Given the description of an element on the screen output the (x, y) to click on. 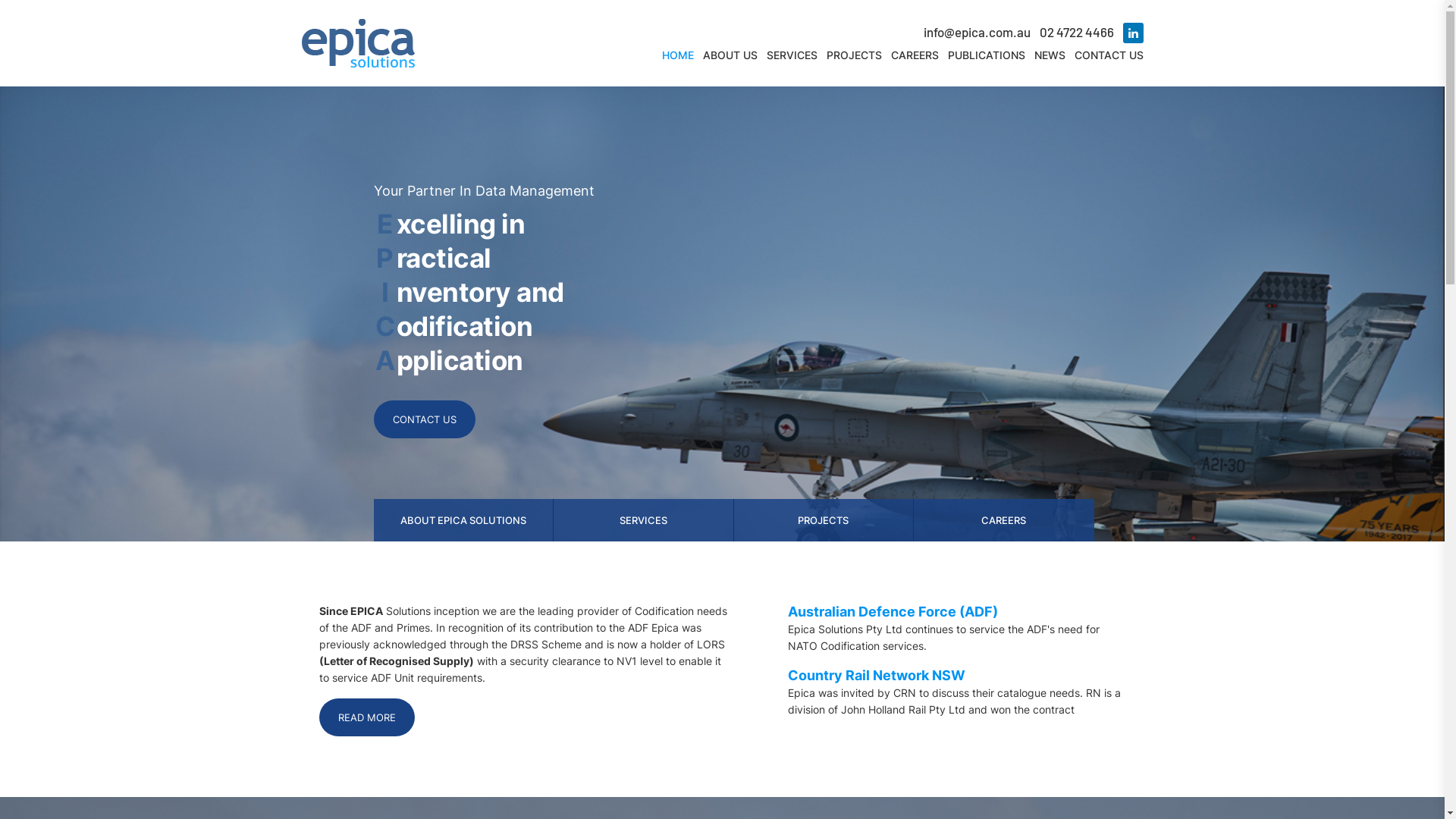
02 4722 4466 Element type: text (1075, 31)
HOME Element type: text (677, 55)
SERVICES Element type: text (790, 55)
PUBLICATIONS Element type: text (986, 55)
PROJECTS Element type: text (853, 55)
CONTACT US Element type: text (423, 419)
ABOUT EPICA SOLUTIONS Element type: text (463, 519)
NEWS Element type: text (1049, 55)
READ MORE Element type: text (366, 717)
CAREERS Element type: text (914, 55)
CAREERS Element type: text (1003, 519)
CONTACT US Element type: text (1107, 55)
ABOUT US Element type: text (729, 55)
info@epica.com.au Element type: text (976, 31)
SERVICES Element type: text (643, 519)
PROJECTS Element type: text (824, 519)
